Given the description of an element on the screen output the (x, y) to click on. 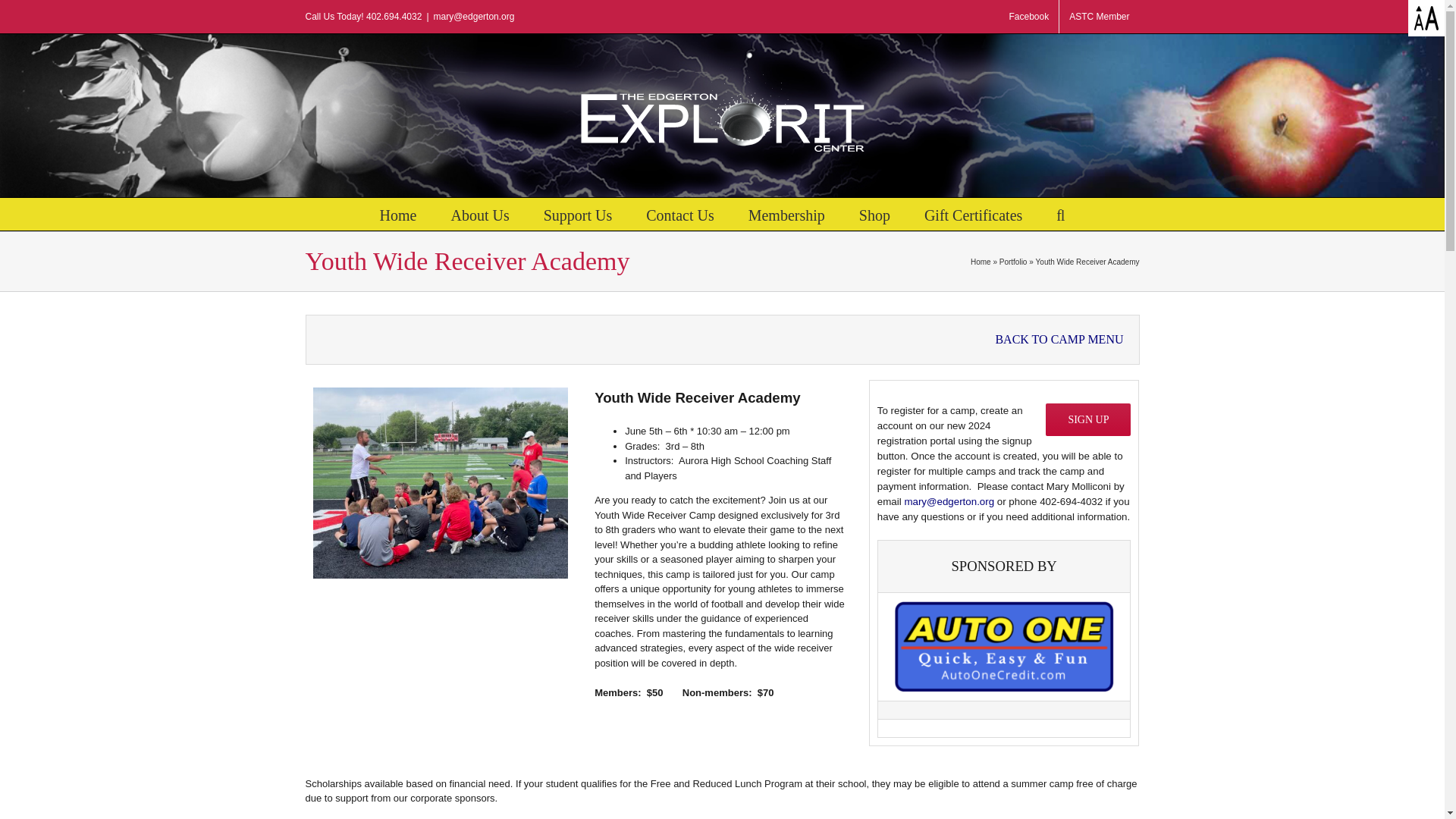
Membership (786, 214)
Home (981, 261)
Contact Us (679, 214)
SIGN UP (1088, 419)
Gift Certificates (973, 214)
Home (398, 214)
About Us (478, 214)
Facebook (1028, 16)
BACK TO CAMP MENU (1058, 338)
Portfolio (1012, 261)
